Given the description of an element on the screen output the (x, y) to click on. 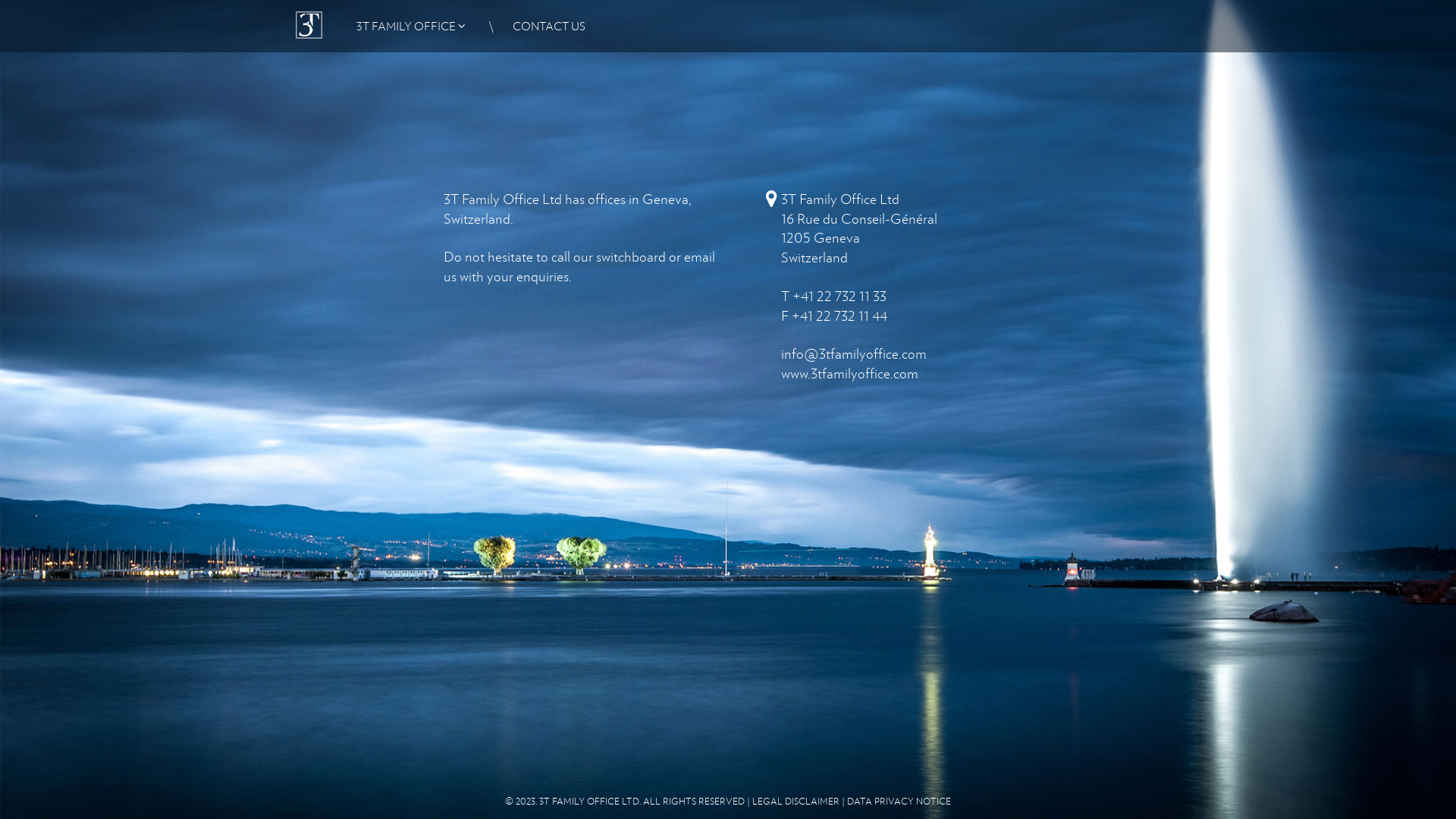
www.3tfamilyoffice.com Element type: text (849, 372)
DATA PRIVACY NOTICE Element type: text (898, 800)
LEGAL DISCLAIMER Element type: text (795, 800)
info@3tfamilyoffice.com Element type: text (853, 353)
CONTACT US Element type: text (548, 26)
3T FAMILY OFFICE Element type: text (403, 26)
